Given the description of an element on the screen output the (x, y) to click on. 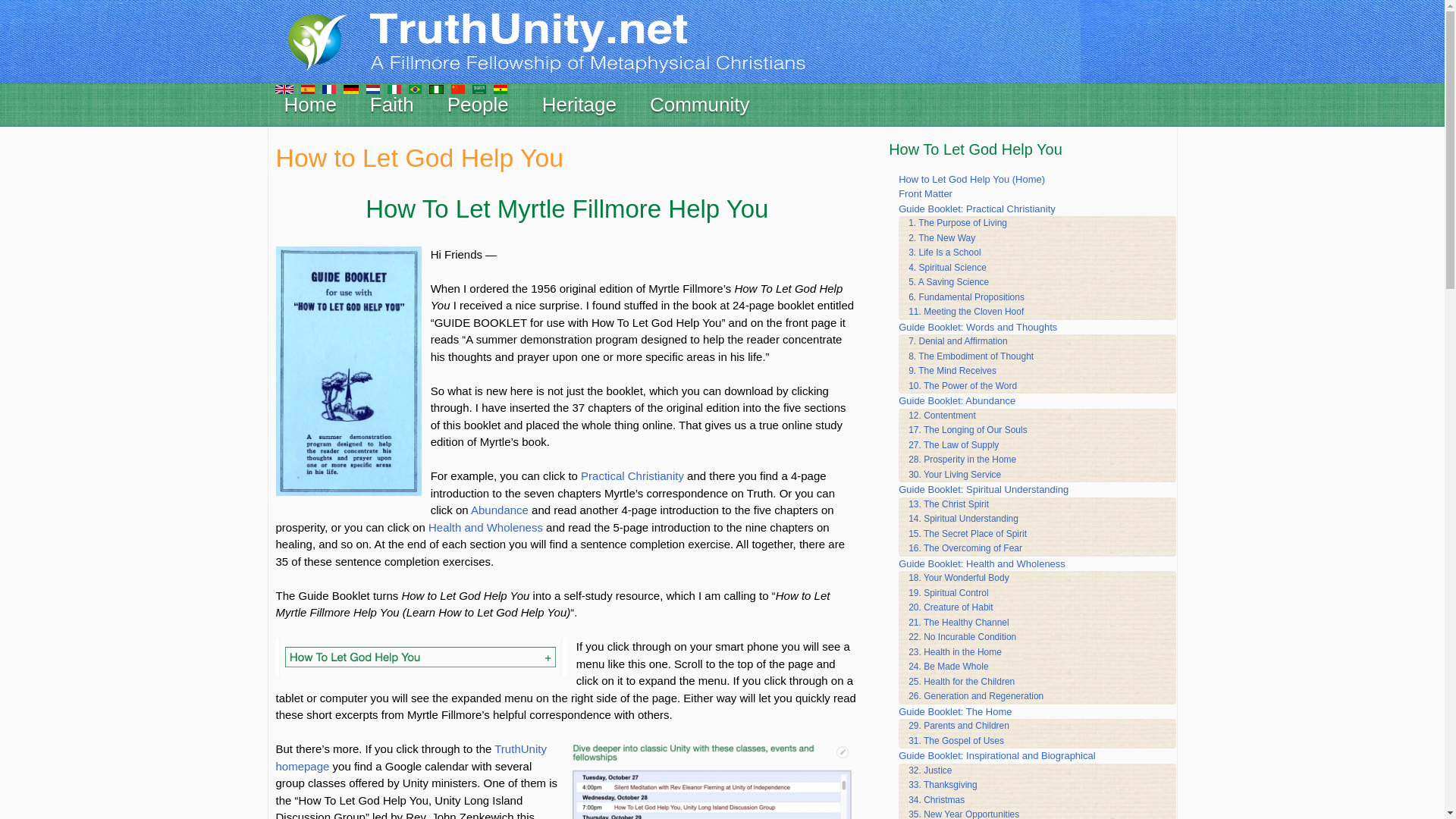
Italy (393, 88)
France (327, 88)
Arabic (477, 88)
Home (310, 104)
China (456, 88)
Community Funded Translations (283, 88)
Ghana (499, 88)
Spanish (306, 88)
Nigeria (436, 88)
Germany (350, 88)
Home (569, 39)
People (477, 104)
Netherlands (371, 88)
